Given the description of an element on the screen output the (x, y) to click on. 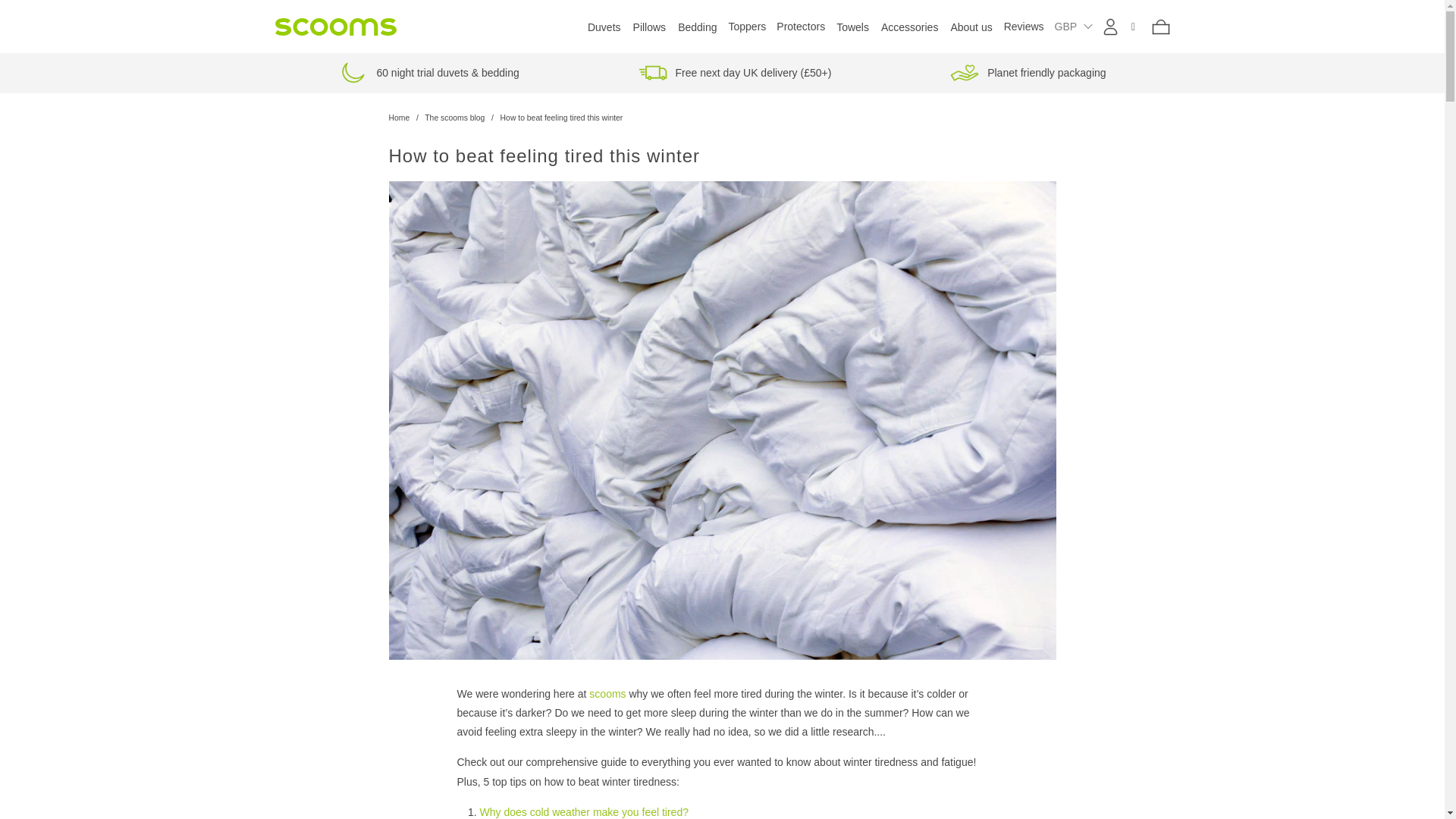
Why does cold weather make you feel tired? (583, 811)
scooms (335, 26)
scooms (398, 117)
Responsibility (964, 72)
60 night trial (352, 72)
Free delivery (652, 72)
The scooms blog (454, 117)
scooms (607, 693)
